Given the description of an element on the screen output the (x, y) to click on. 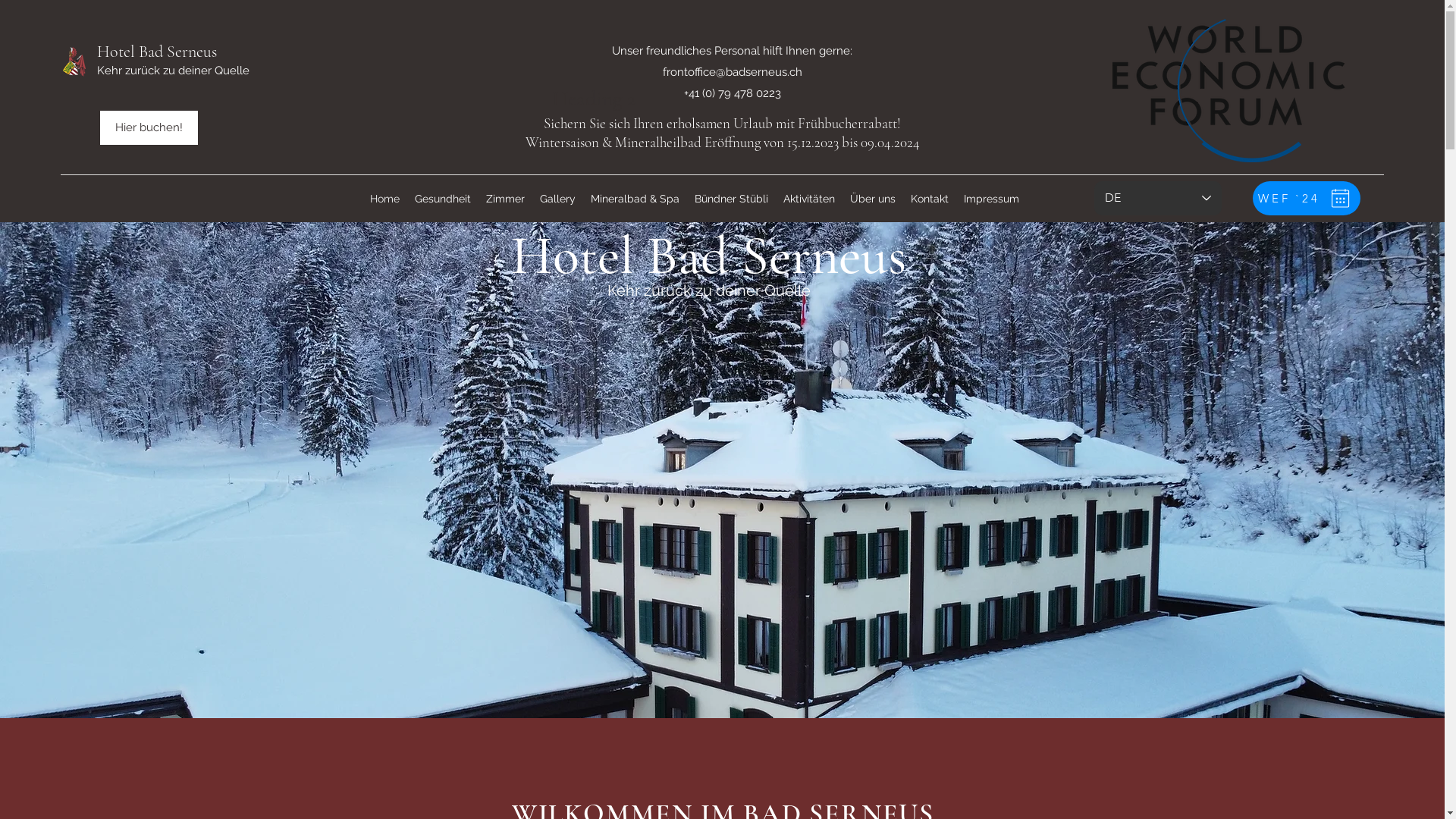
Gesundheit Element type: text (441, 198)
WEF `24 Element type: text (1306, 198)
Hotel Bad Serneus Element type: text (156, 51)
Mineralbad & Spa Element type: text (634, 198)
Zimmer Element type: text (504, 198)
Impressum Element type: text (990, 198)
Gallery Element type: text (557, 198)
Hier buchen! Element type: text (148, 127)
frontoffice@badserneus.ch Element type: text (732, 71)
Kontakt Element type: text (928, 198)
Home Element type: text (384, 198)
